Given the description of an element on the screen output the (x, y) to click on. 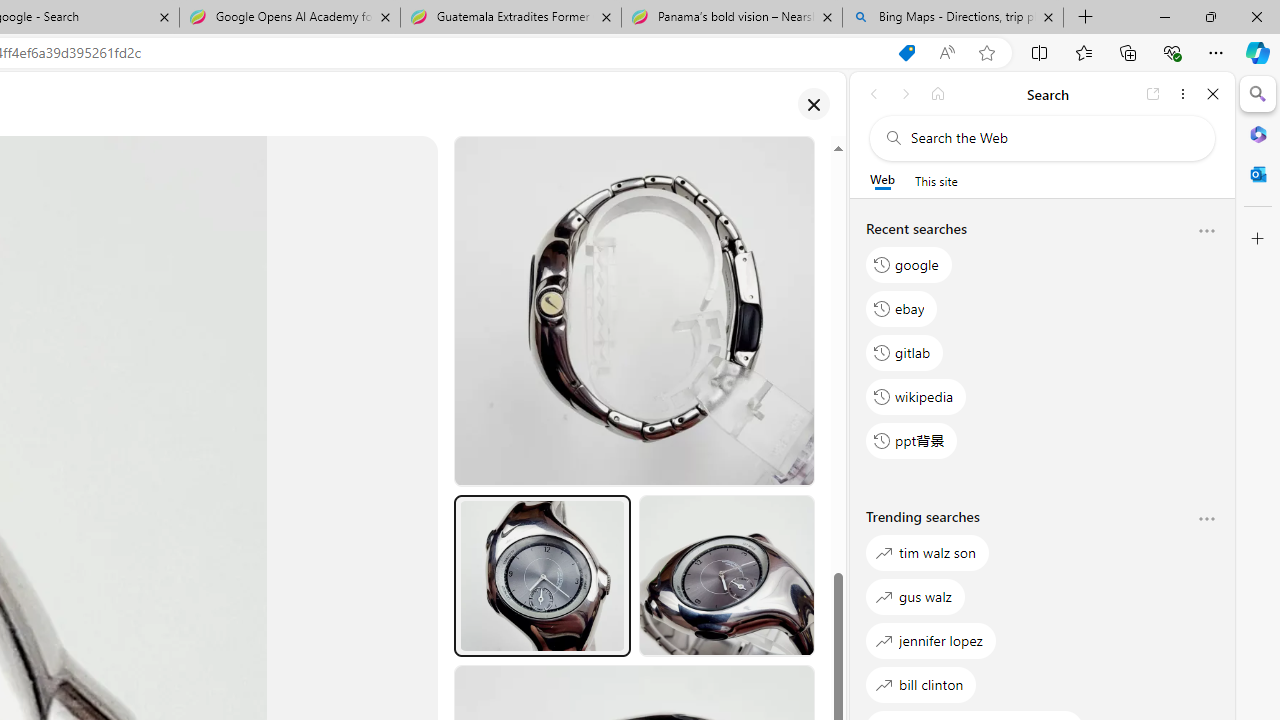
Forward (906, 93)
Outlook (1258, 174)
wikipedia (916, 396)
gus walz (915, 596)
This site scope (936, 180)
